Given the description of an element on the screen output the (x, y) to click on. 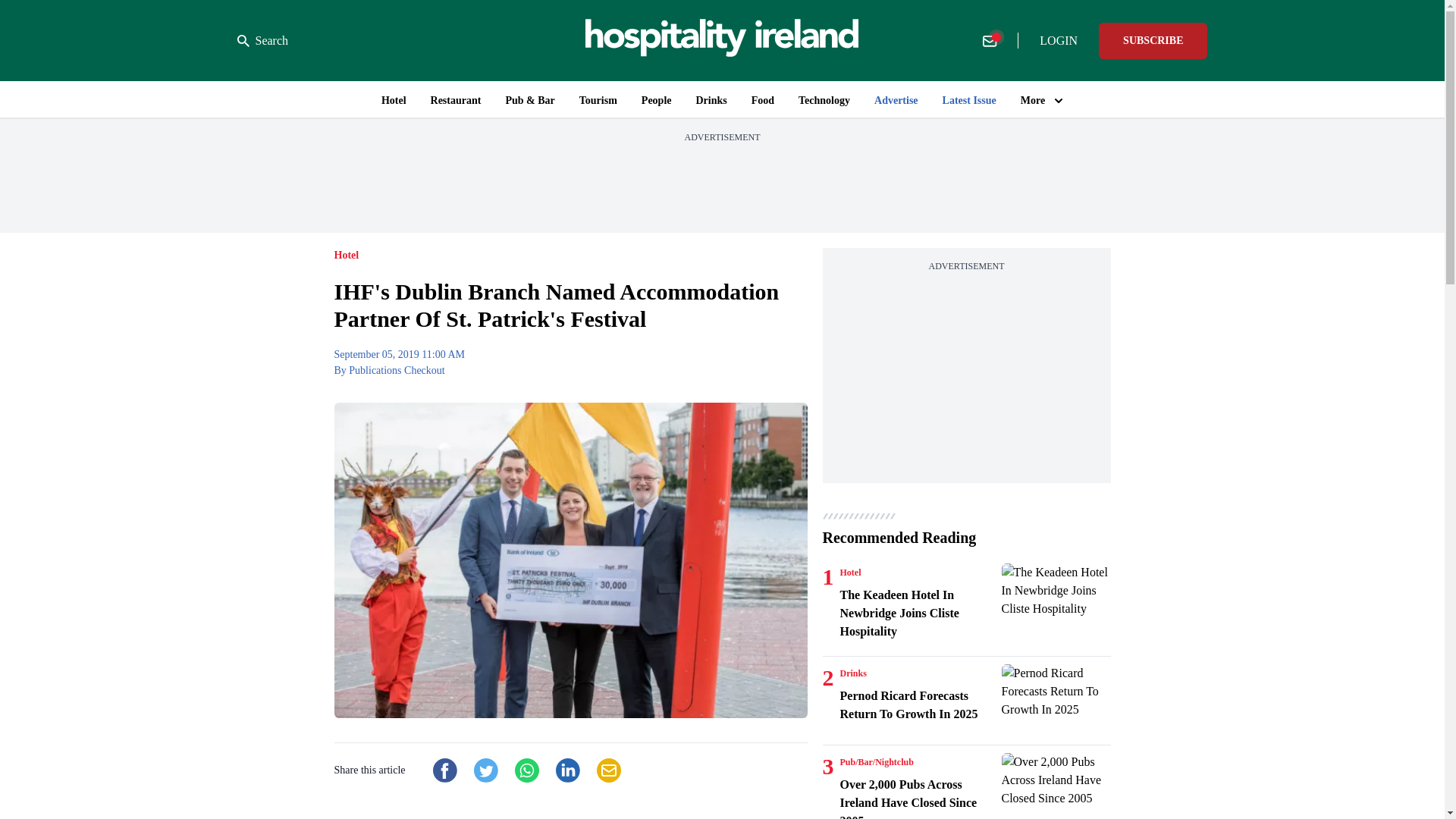
Drinks (853, 673)
Hotel (850, 572)
The Keadeen Hotel In Newbridge Joins Cliste Hospitality (917, 613)
Pernod Ricard Forecasts Return To Growth In 2025 (917, 705)
The Keadeen Hotel In Newbridge Joins Cliste Hospitality (1055, 599)
Search (261, 40)
Hospitality Ireland (722, 40)
